Given the description of an element on the screen output the (x, y) to click on. 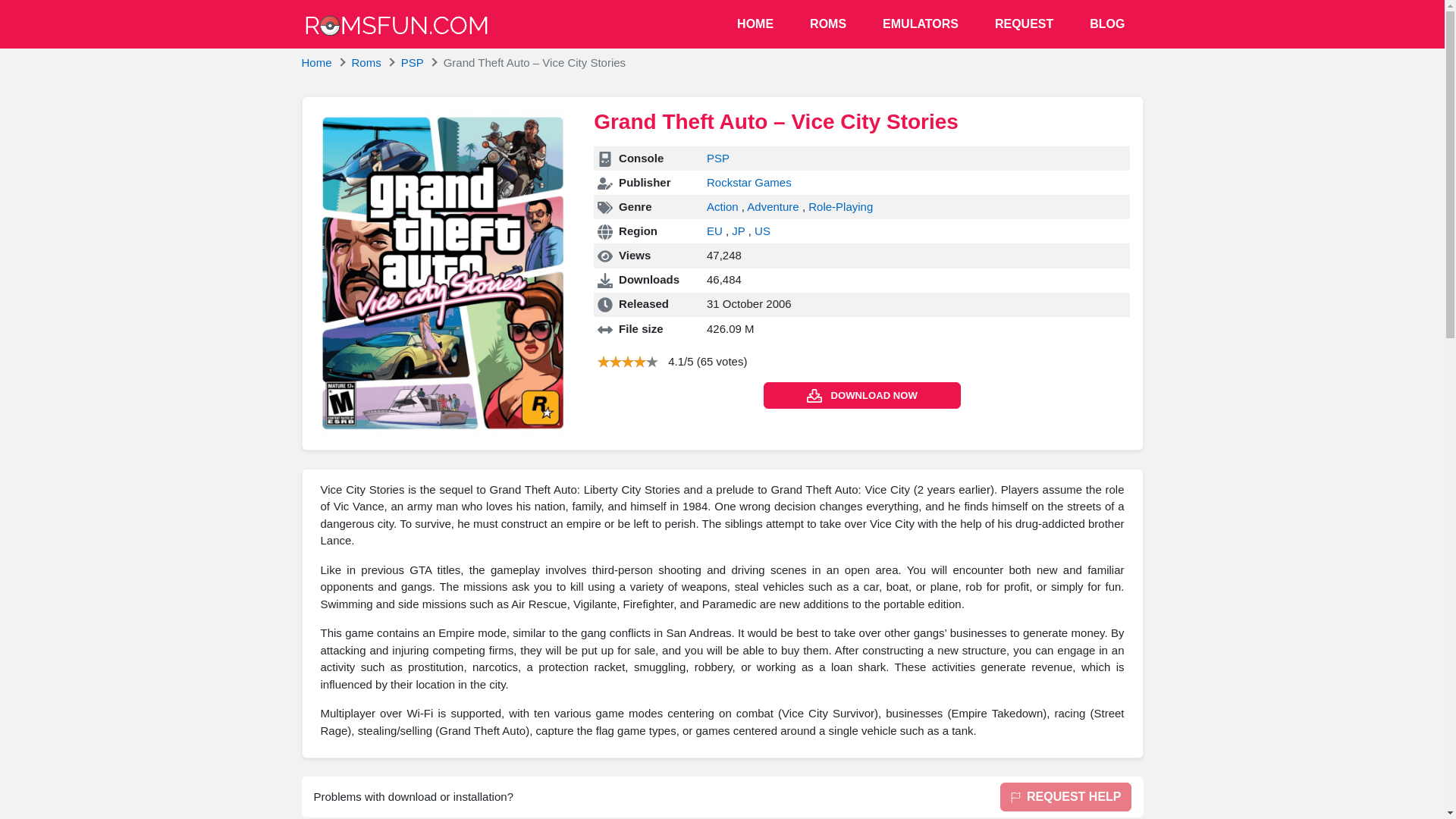
US (762, 230)
Action (723, 205)
Roms (366, 62)
HOME (755, 24)
ROMS (828, 24)
Roms (366, 62)
Adventure (774, 205)
DOWNLOAD NOW (861, 395)
EU (715, 230)
Home (316, 62)
ROMSFUN.COM (396, 25)
REQUEST (1023, 24)
REQUEST HELP (1065, 796)
EMULATORS (920, 24)
